Given the description of an element on the screen output the (x, y) to click on. 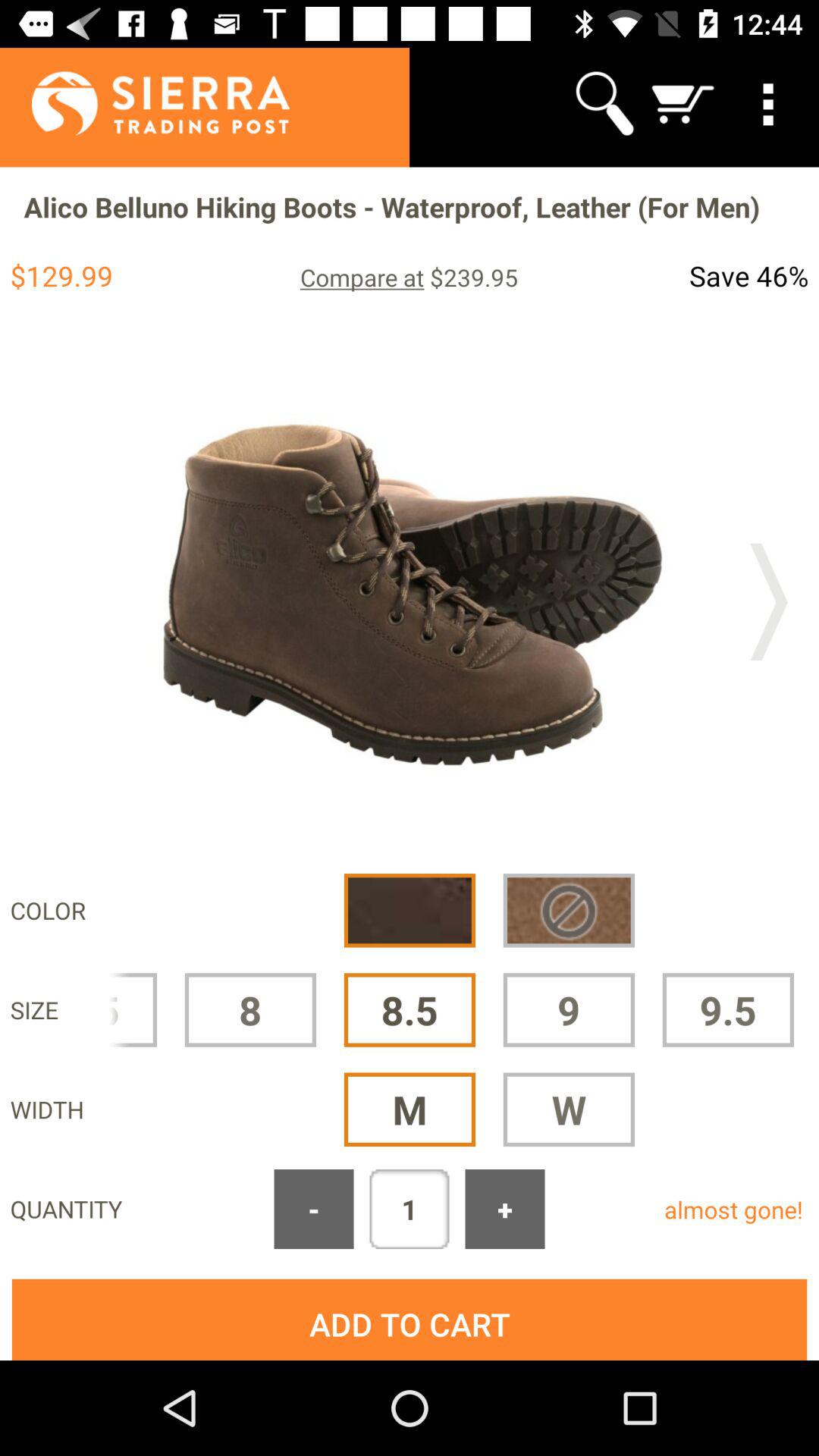
click - item (313, 1208)
